Given the description of an element on the screen output the (x, y) to click on. 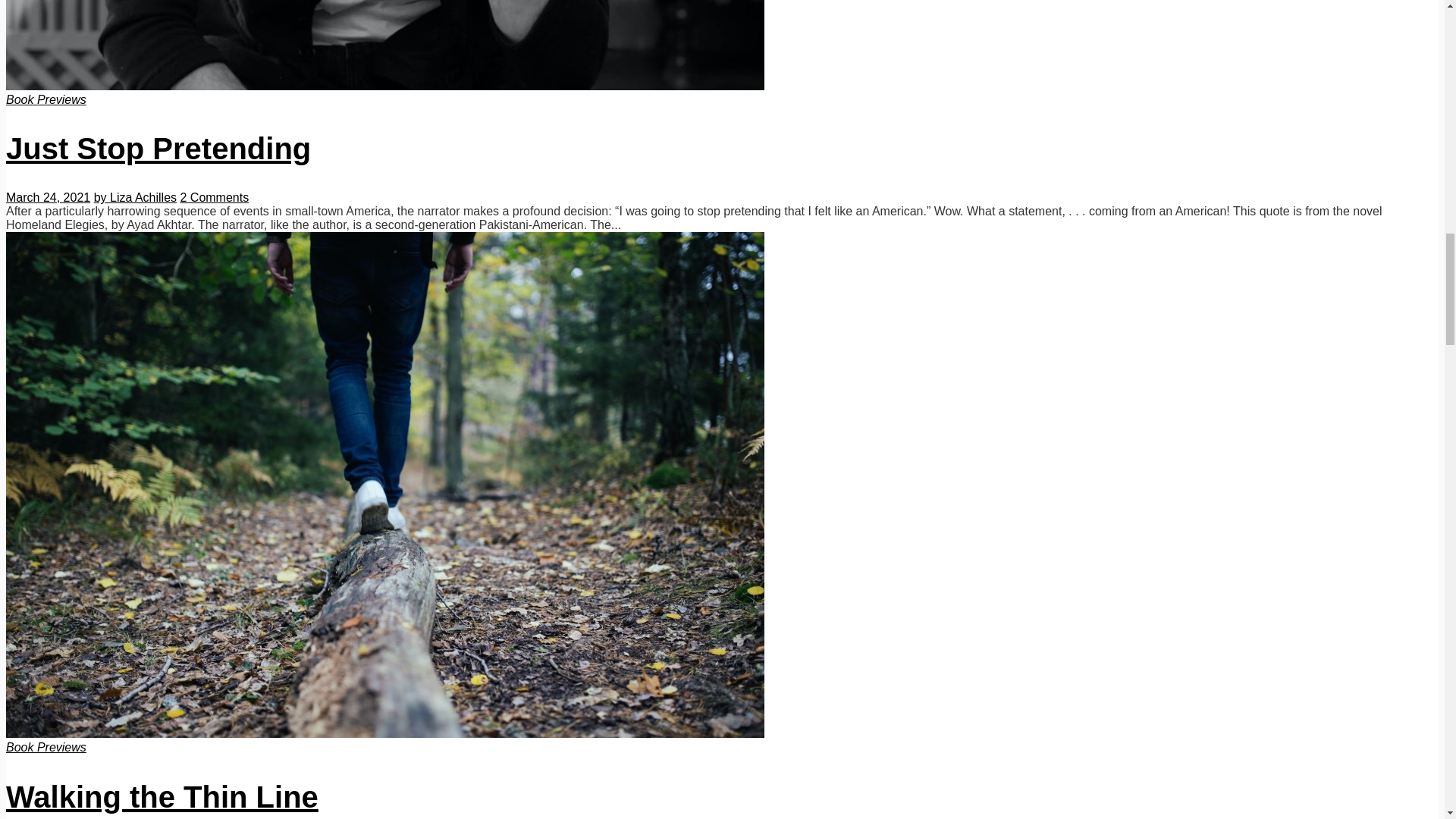
Permanent (158, 148)
Walking the Thin Line (161, 797)
March 24, 2021 (47, 196)
Permanent (384, 85)
by Liza Achilles (135, 196)
2 Comments (213, 196)
Just Stop Pretending (158, 148)
Book Previews (45, 747)
Book Previews (45, 99)
Permanent (161, 797)
Permanent (384, 733)
